Given the description of an element on the screen output the (x, y) to click on. 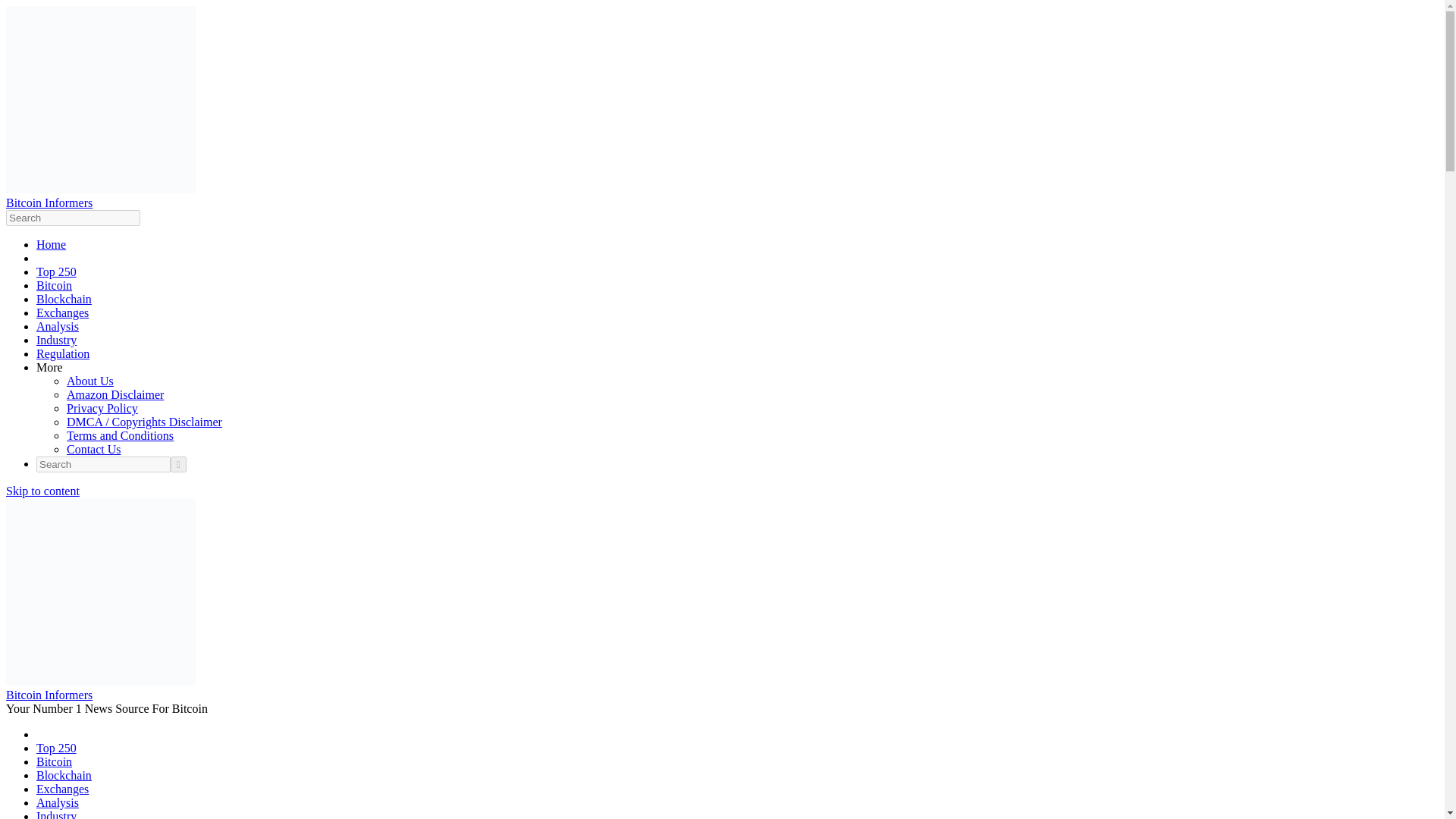
Bitcoin Informers (49, 202)
Home (50, 244)
Exchanges (62, 312)
Skip to content (42, 490)
Analysis (57, 326)
Privacy Policy (102, 408)
Bitcoin (53, 285)
Contact Us (93, 449)
Blockchain (63, 298)
Industry (56, 814)
Top 250 (56, 748)
Blockchain (63, 775)
Industry (56, 339)
Analysis (57, 802)
Amazon Disclaimer (114, 394)
